Given the description of an element on the screen output the (x, y) to click on. 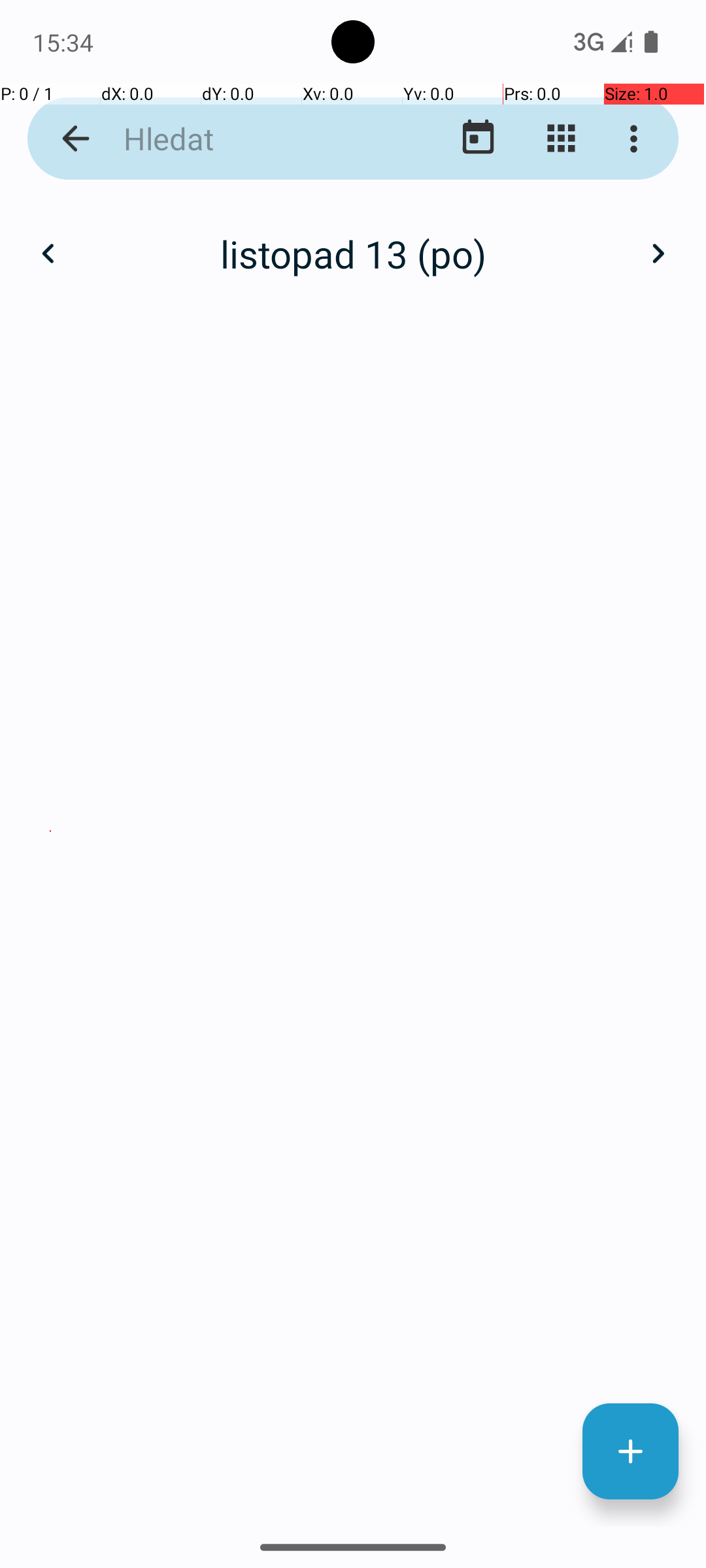
Hledat Element type: android.widget.EditText (252, 138)
Přejít na dnešní datum Element type: android.widget.Button (477, 138)
Změnit zobrazení Element type: android.widget.Button (560, 138)
Nová událost Element type: android.widget.ImageButton (630, 1451)
listopad Element type: android.widget.TextView (352, 239)
listopad 13 (po) Element type: android.widget.TextView (352, 253)
